Given the description of an element on the screen output the (x, y) to click on. 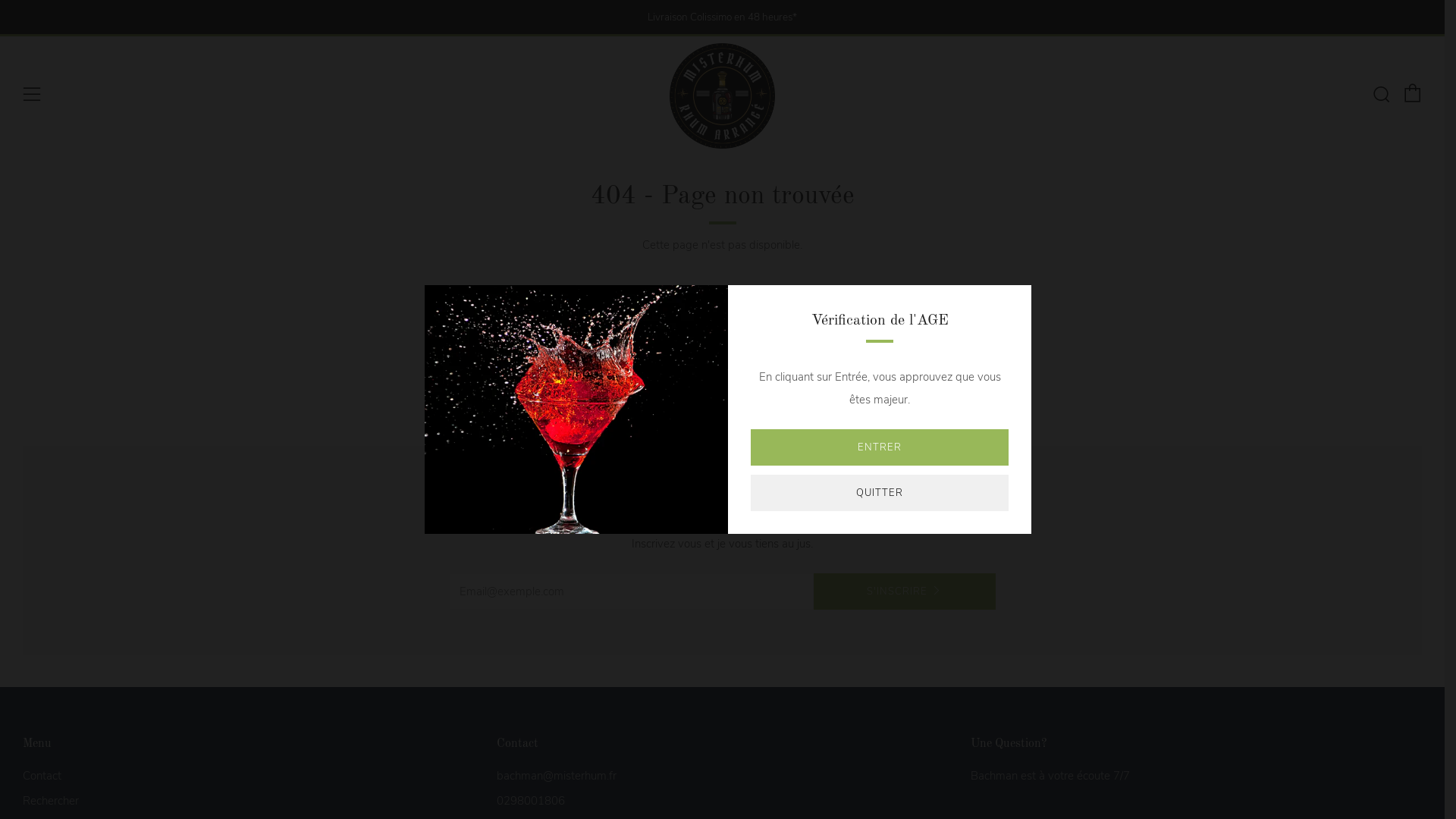
ENTRER Element type: text (879, 447)
Rechercher Element type: text (50, 800)
Menu Element type: text (31, 94)
CONTINUER VOS ACHATS Element type: text (721, 395)
0298001806 Element type: text (530, 800)
QUITTER Element type: text (879, 492)
bachman@misterhum.fr Element type: text (556, 775)
Contact Element type: text (41, 775)
Livraison Colissimo en 48 heures* Element type: text (722, 17)
S'INSCRIRE Element type: text (903, 591)
Panier Element type: text (1412, 93)
Recherche Element type: text (1380, 93)
